Given the description of an element on the screen output the (x, y) to click on. 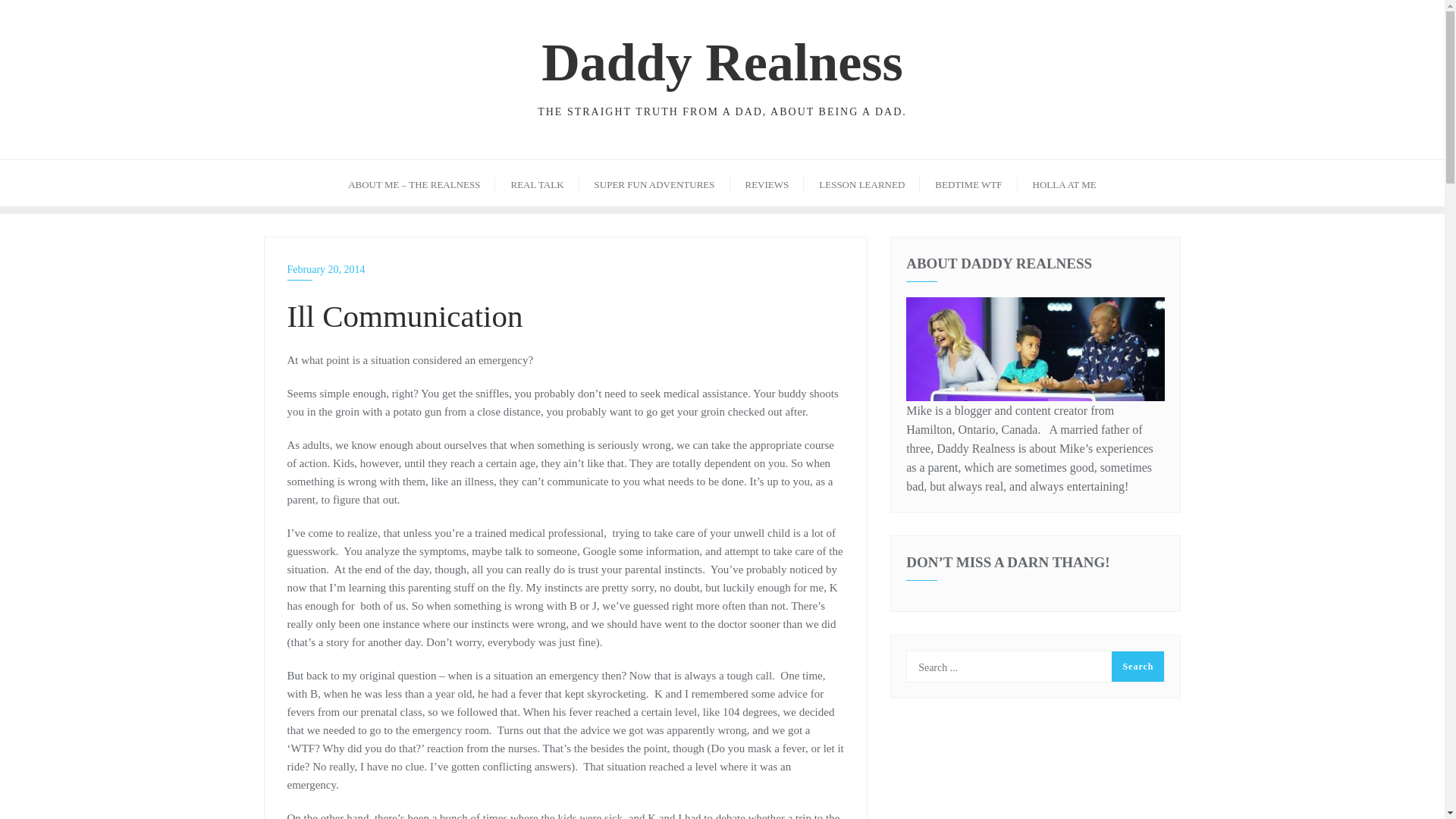
February 20, 2014 (565, 269)
LESSON LEARNED (861, 182)
BEDTIME WTF (968, 182)
SUPER FUN ADVENTURES (654, 182)
REVIEWS (766, 182)
REAL TALK (536, 182)
Search (1137, 666)
HOLLA AT ME (1064, 182)
Search (1137, 666)
